Given the description of an element on the screen output the (x, y) to click on. 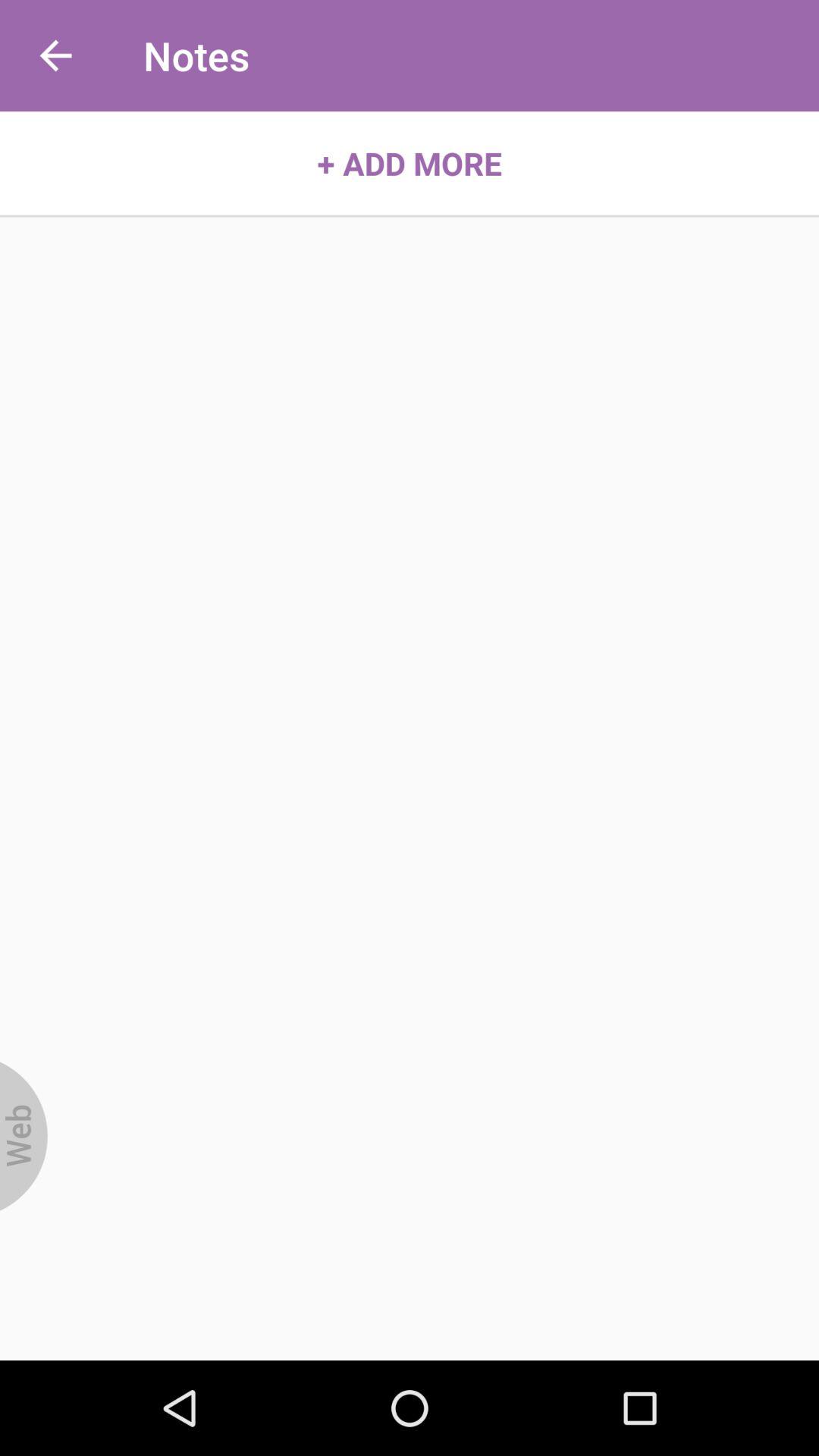
launch the icon to the left of the notes (55, 55)
